Given the description of an element on the screen output the (x, y) to click on. 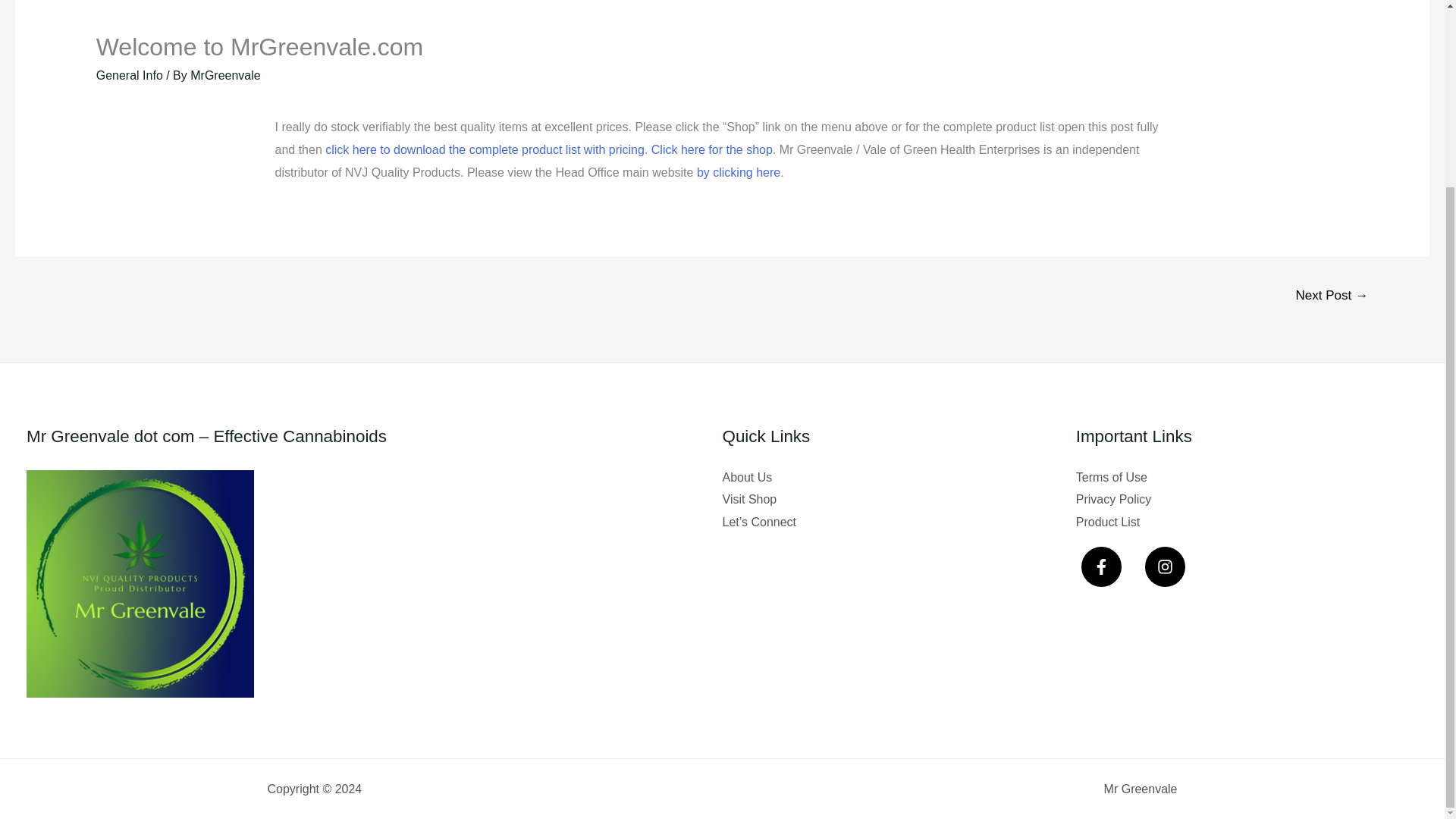
by clicking here (738, 172)
Visit Shop (749, 499)
Click here for the shop (711, 149)
MrGreenvale (225, 74)
About Us (746, 477)
Privacy Policy (1113, 499)
General Info (129, 74)
View all posts by MrGreenvale (225, 74)
Product List (1107, 521)
